Given the description of an element on the screen output the (x, y) to click on. 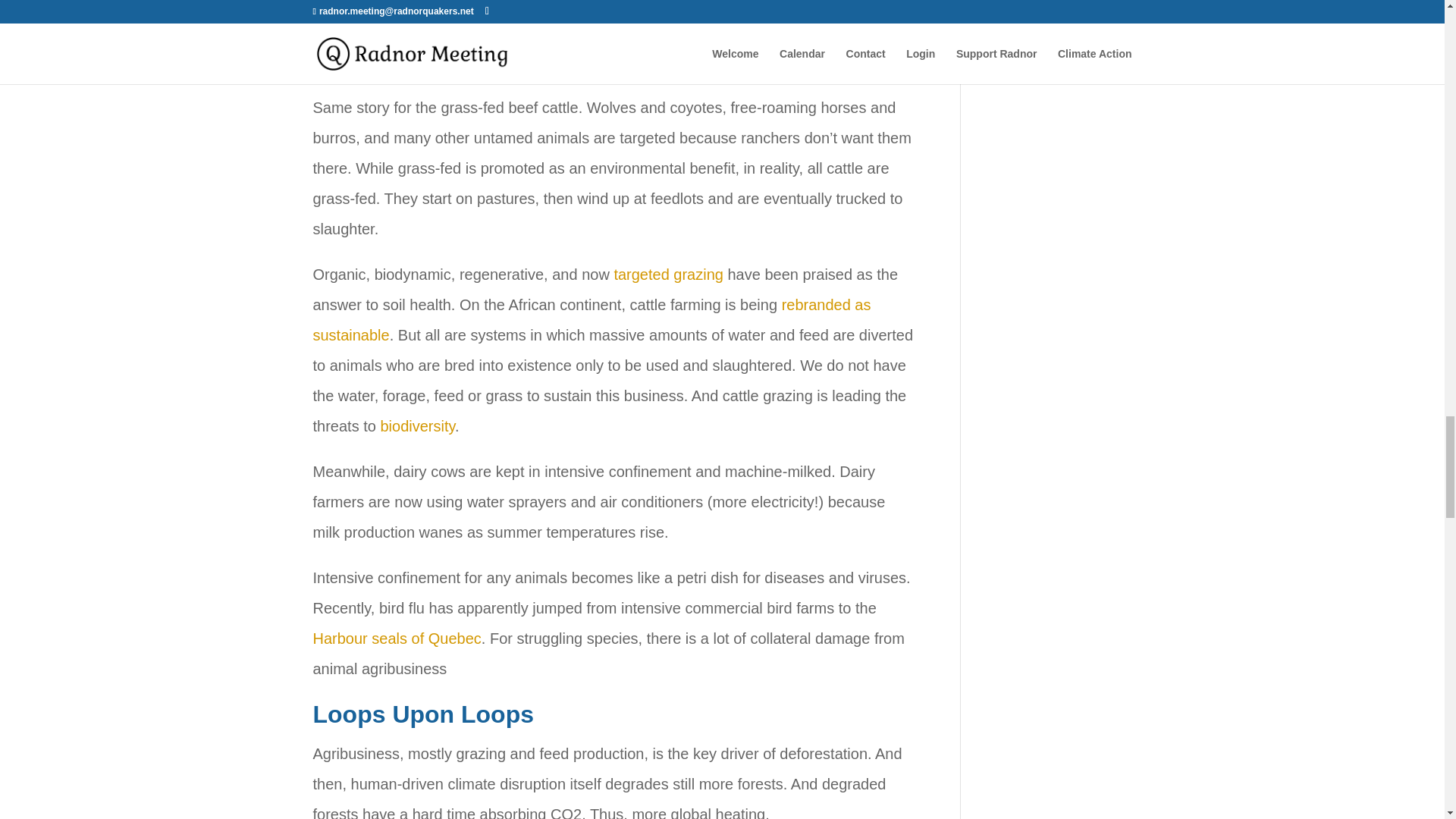
targeted grazing (667, 274)
rebranded as sustainable (591, 319)
Harbour seals of Quebec (396, 638)
biodiversity (417, 425)
